Given the description of an element on the screen output the (x, y) to click on. 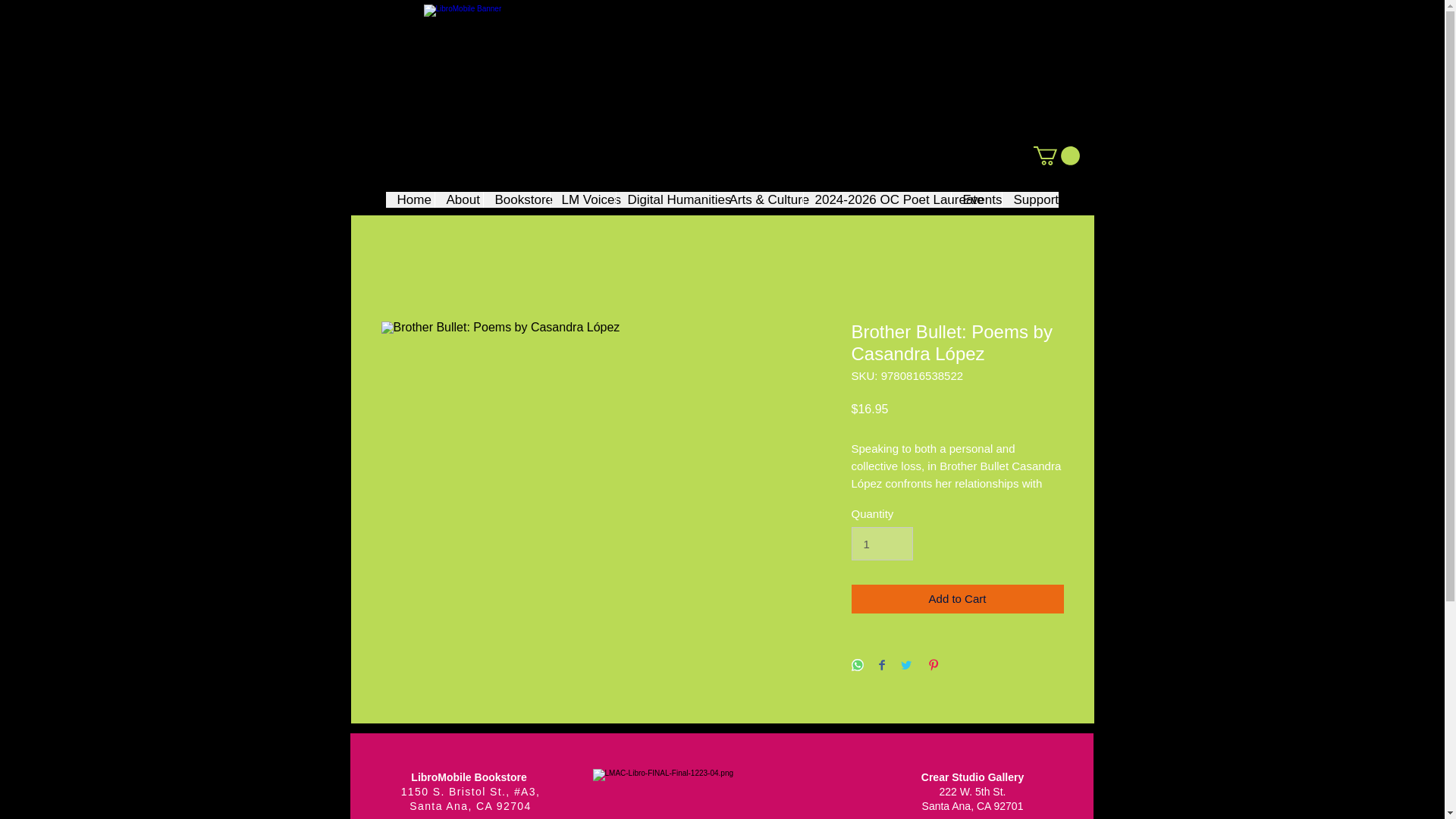
Established in 2016 (721, 84)
Add to Cart (956, 599)
2024-2026 OC Poet Laureate (876, 199)
Support (1029, 199)
LM Voices (581, 199)
Home (409, 199)
Digital Humanities (666, 199)
Events (975, 199)
1 (881, 543)
